Given the description of an element on the screen output the (x, y) to click on. 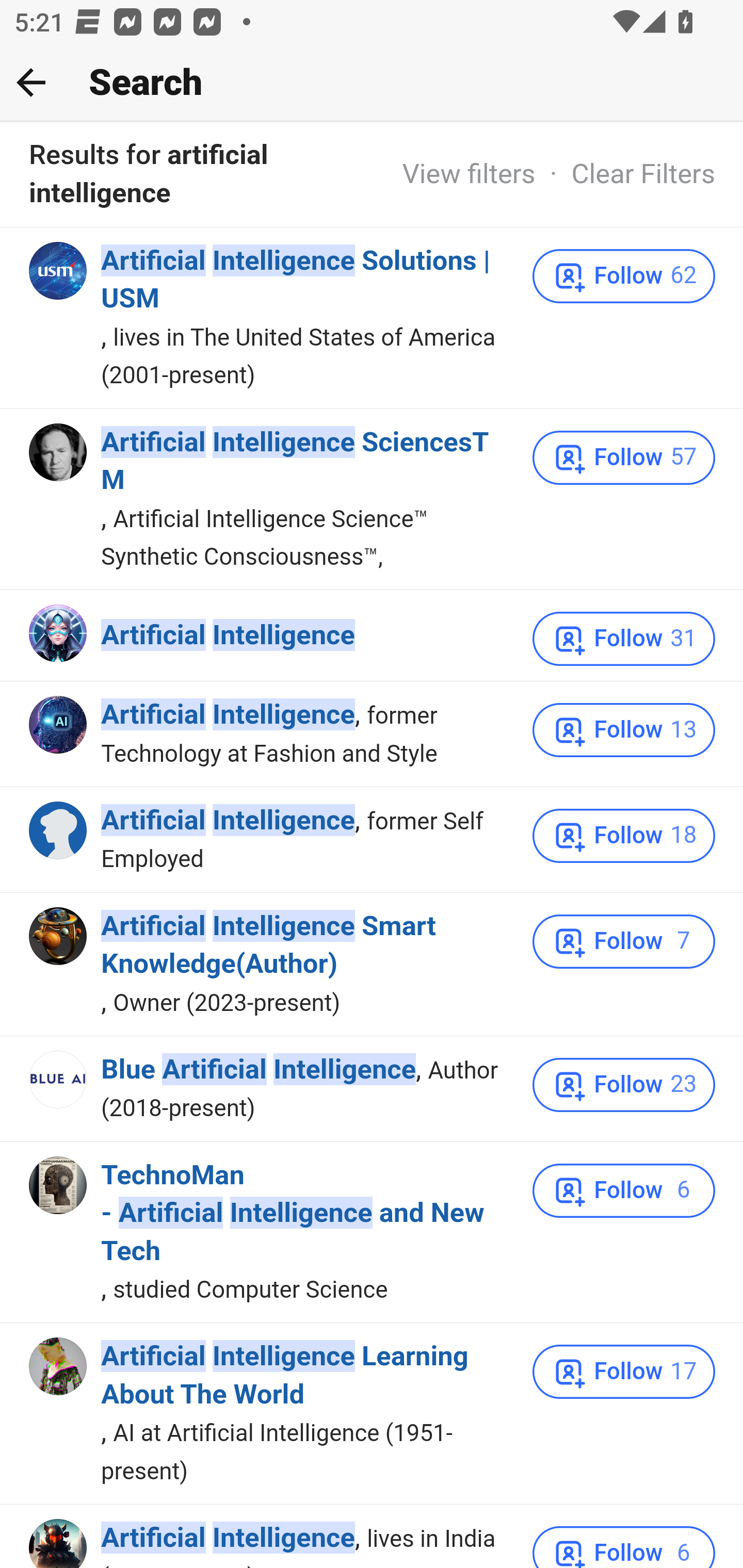
Back Search (371, 82)
Back (30, 82)
View filters (468, 173)
· Clear Filters · Clear Filters (625, 173)
Profile photo for Artificial Intelligence (58, 633)
Follow Artificial Intelligence Follow 31 (623, 637)
Artificial Intelligence Artificial   Intelligence (228, 635)
Profile photo for Artificial Intelligence (58, 725)
Artificial Intelligence Artificial   Intelligence (228, 715)
Follow Artificial Intelligence Follow 13 (623, 730)
Profile photo for Artificial Intelligence (58, 830)
Artificial Intelligence Artificial   Intelligence (228, 820)
Follow Artificial Intelligence Follow 18 (623, 835)
Profile photo for Blue Artificial Intelligence (58, 1078)
Follow Blue Artificial Intelligence Follow 23 (623, 1084)
Profile photo for Artificial Intelligence (58, 1543)
Artificial Intelligence Artificial   Intelligence (228, 1538)
Follow Artificial Intelligence Follow 6 (623, 1546)
